Given the description of an element on the screen output the (x, y) to click on. 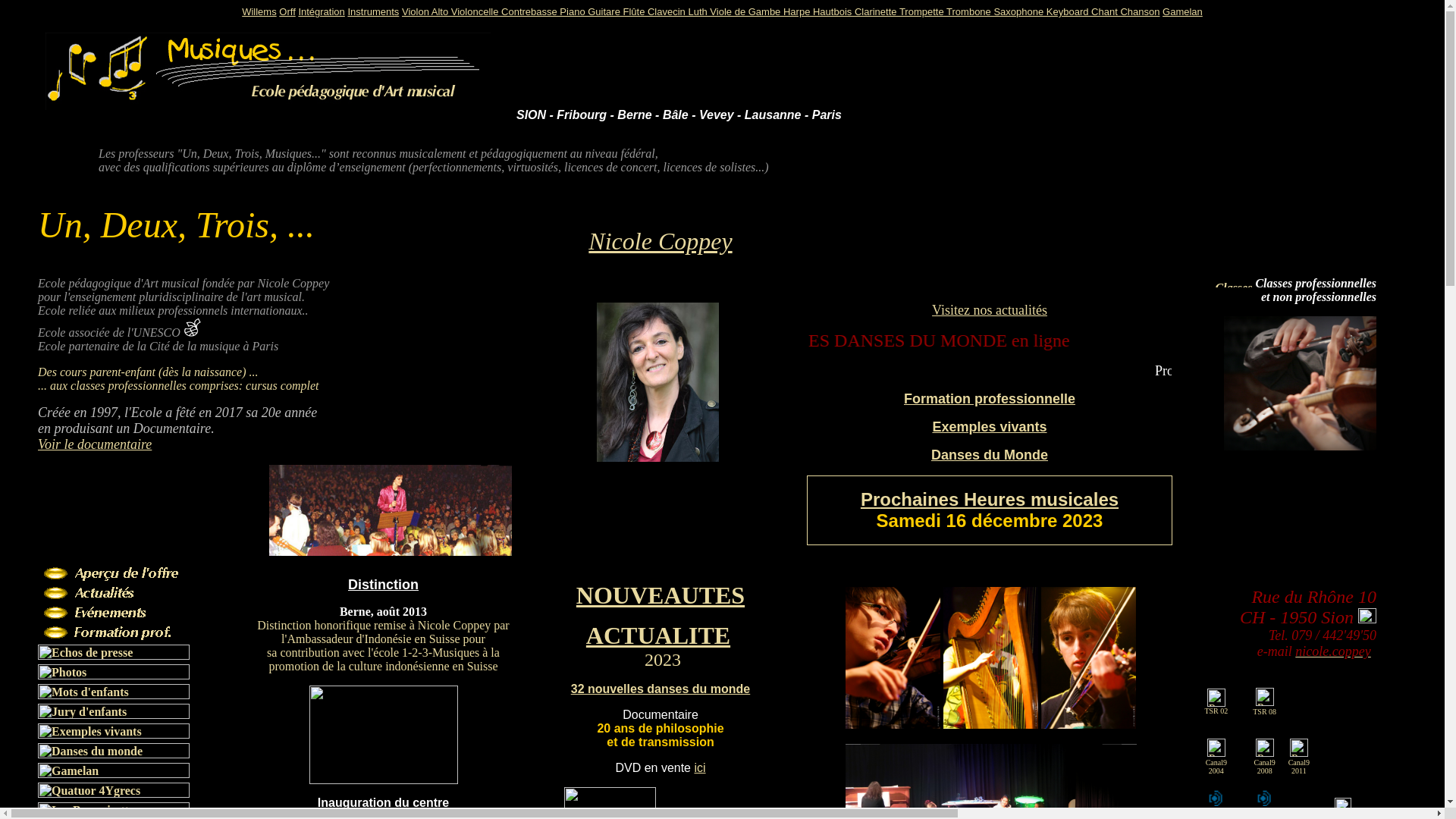
ACTUALITE Element type: text (658, 635)
cursus complet Element type: text (281, 385)
Instruments Element type: text (372, 11)
Voir le documentaire Element type: text (94, 443)
Willems Element type: text (258, 11)
2023 Element type: text (662, 661)
nicole.coppey Element type: text (1332, 650)
Formation professionnelle Element type: text (989, 398)
Nicole Coppey Element type: text (659, 240)
Classes professionnelles
et non professionnelles Element type: text (1315, 289)
Gamelan Element type: text (1182, 11)
32 nouvelles danses du monde Element type: text (660, 688)
ici Element type: text (699, 767)
Danses du Monde Element type: text (989, 454)
Orff Element type: text (286, 11)
32 NOUVELLES DANSES DU MONDE en ligne Element type: text (989, 344)
Exemples vivants Element type: text (988, 426)
NOUVEAUTES Element type: text (660, 594)
Prochaines Heures musicales Element type: text (989, 499)
